Given the description of an element on the screen output the (x, y) to click on. 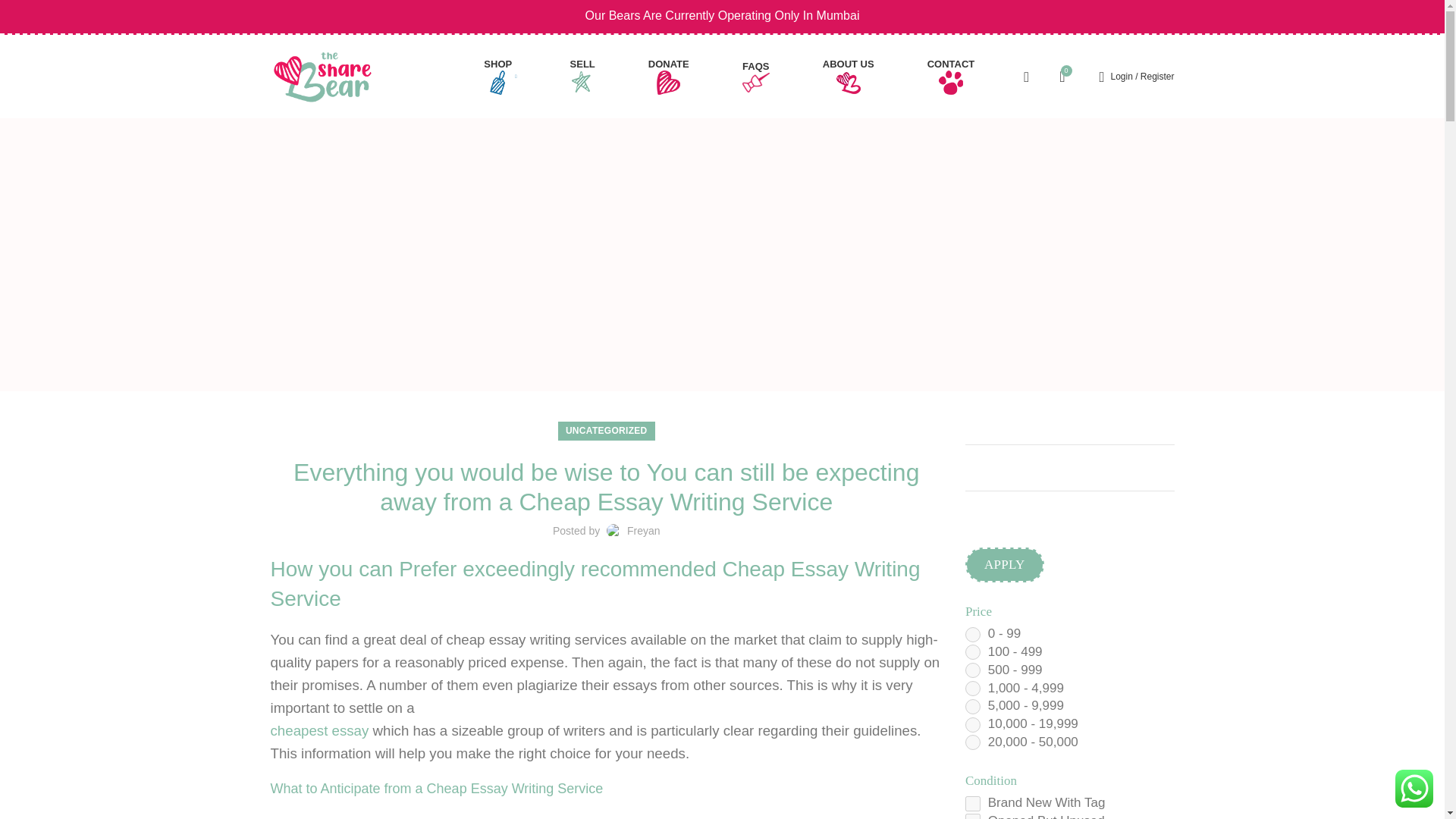
1000-4999 (972, 688)
5000-9999 (972, 706)
My account (1137, 76)
CONTACT (951, 76)
SHOP (500, 76)
ABOUT US (848, 76)
100-499 (972, 652)
FAQS (756, 76)
SELL (582, 76)
500-999 (972, 670)
DONATE (668, 76)
opened-but-unused (972, 816)
0-99 (972, 634)
20000-50000 (972, 742)
brand-new-with-tag (972, 803)
